Given the description of an element on the screen output the (x, y) to click on. 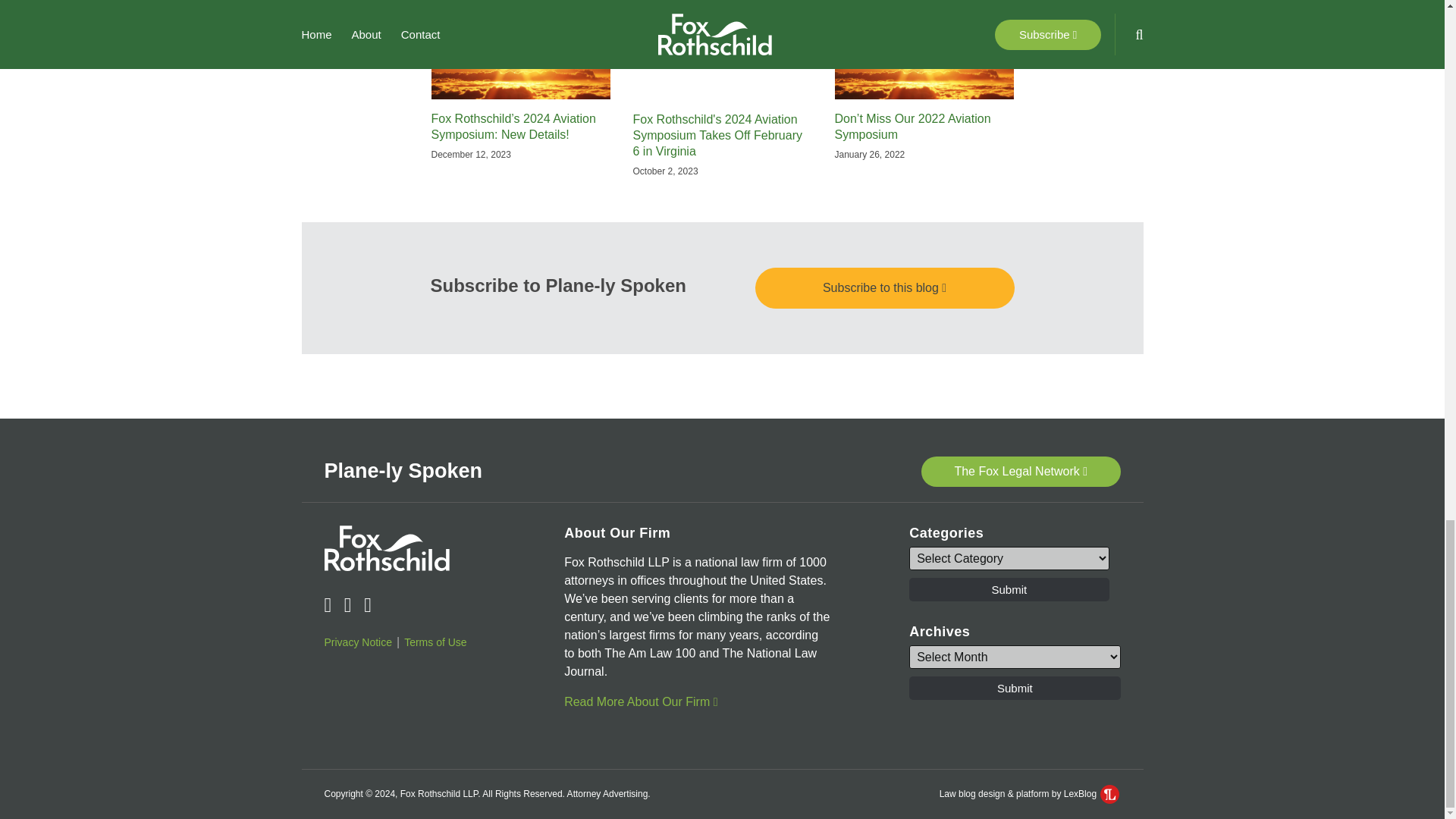
Submit (1013, 688)
LexBlog Logo (1109, 793)
Plane-ly Spoken (403, 470)
Subscribe to this blog (884, 287)
Submit (1008, 589)
The Fox Legal Network (1021, 471)
